Given the description of an element on the screen output the (x, y) to click on. 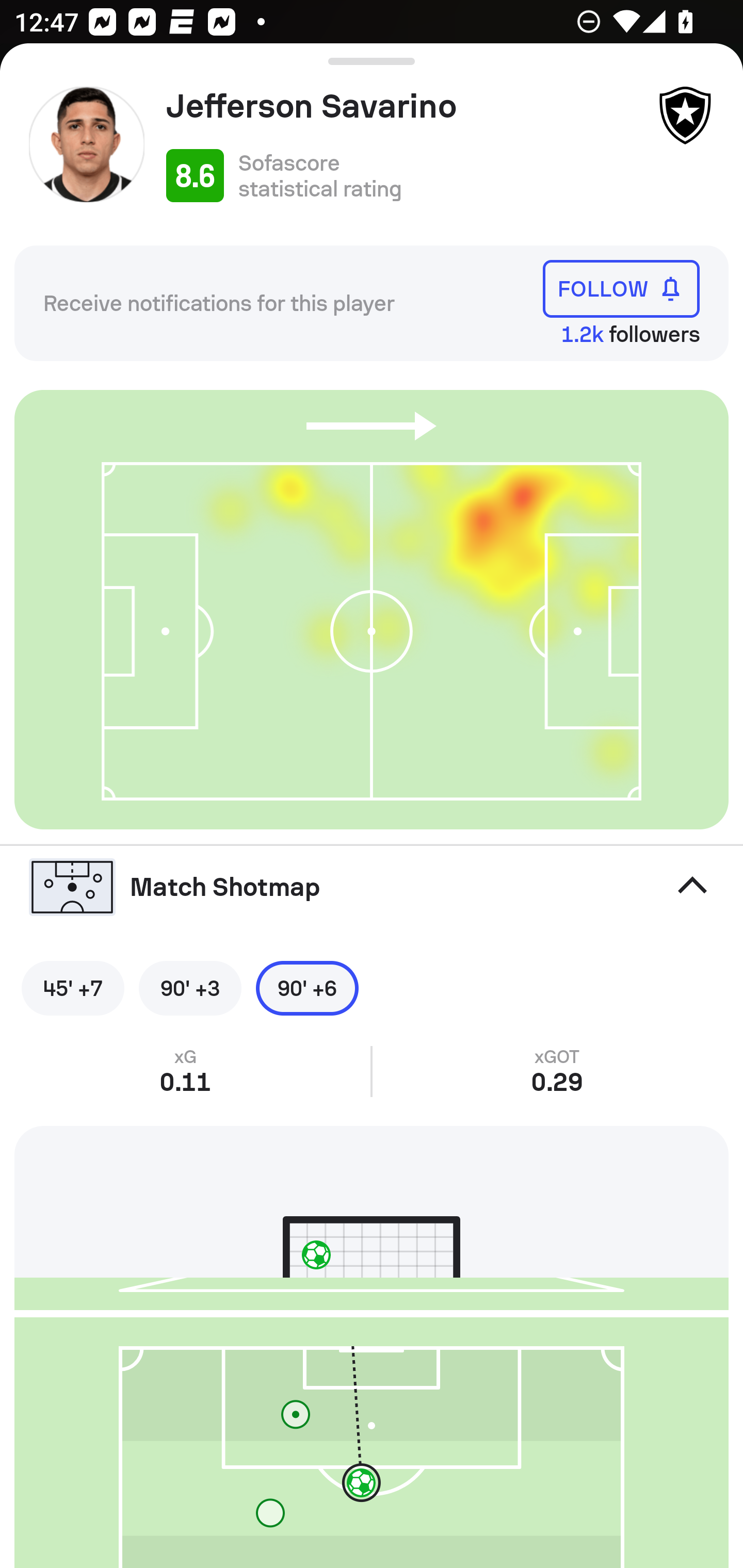
Jefferson Savarino (403, 105)
FOLLOW (621, 289)
Match Shotmap (371, 886)
45' +7 (72, 988)
90' +3 (189, 988)
90' +6 (306, 988)
